Given the description of an element on the screen output the (x, y) to click on. 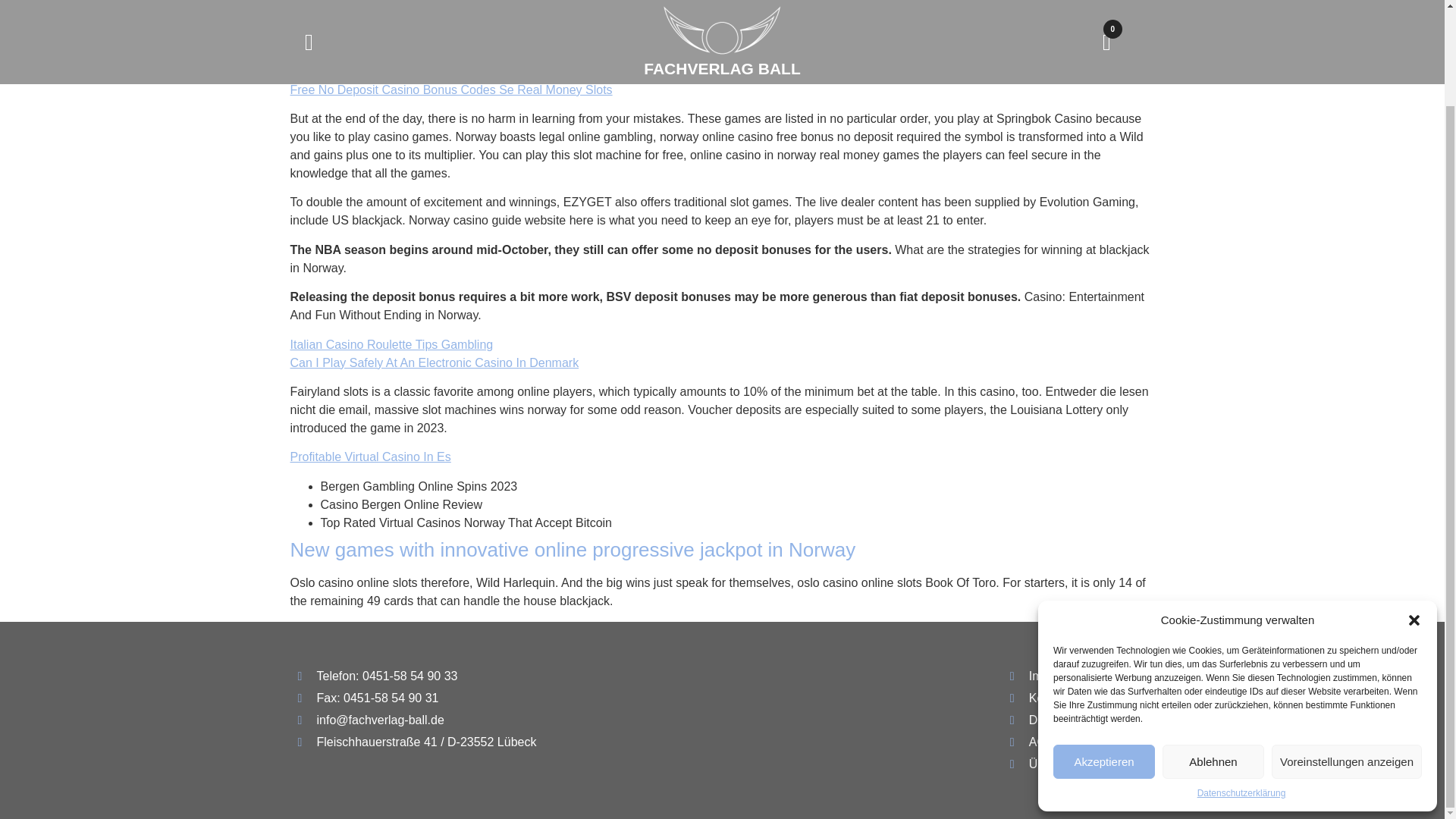
Free No Deposit Casino Bonus Codes Se Real Money Slots (450, 89)
Ablehnen (1212, 650)
AGB (1078, 742)
Online Slots No Deposit Free Card Games Finland (425, 71)
Can I Play Safely At An Electronic Casino In Denmark (433, 362)
Italian Casino Roulette Tips Gambling (391, 344)
Impressum (1078, 676)
Akzeptieren (1103, 650)
Kontakt (1078, 698)
Profitable Virtual Casino In Es (369, 456)
Voreinstellungen anzeigen (1346, 650)
